Given the description of an element on the screen output the (x, y) to click on. 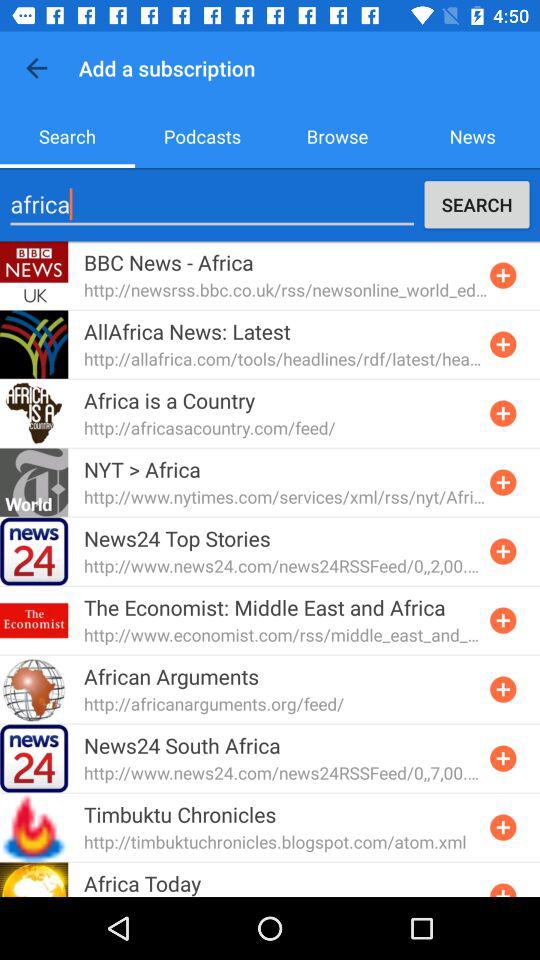
click item above the search (36, 68)
